Given the description of an element on the screen output the (x, y) to click on. 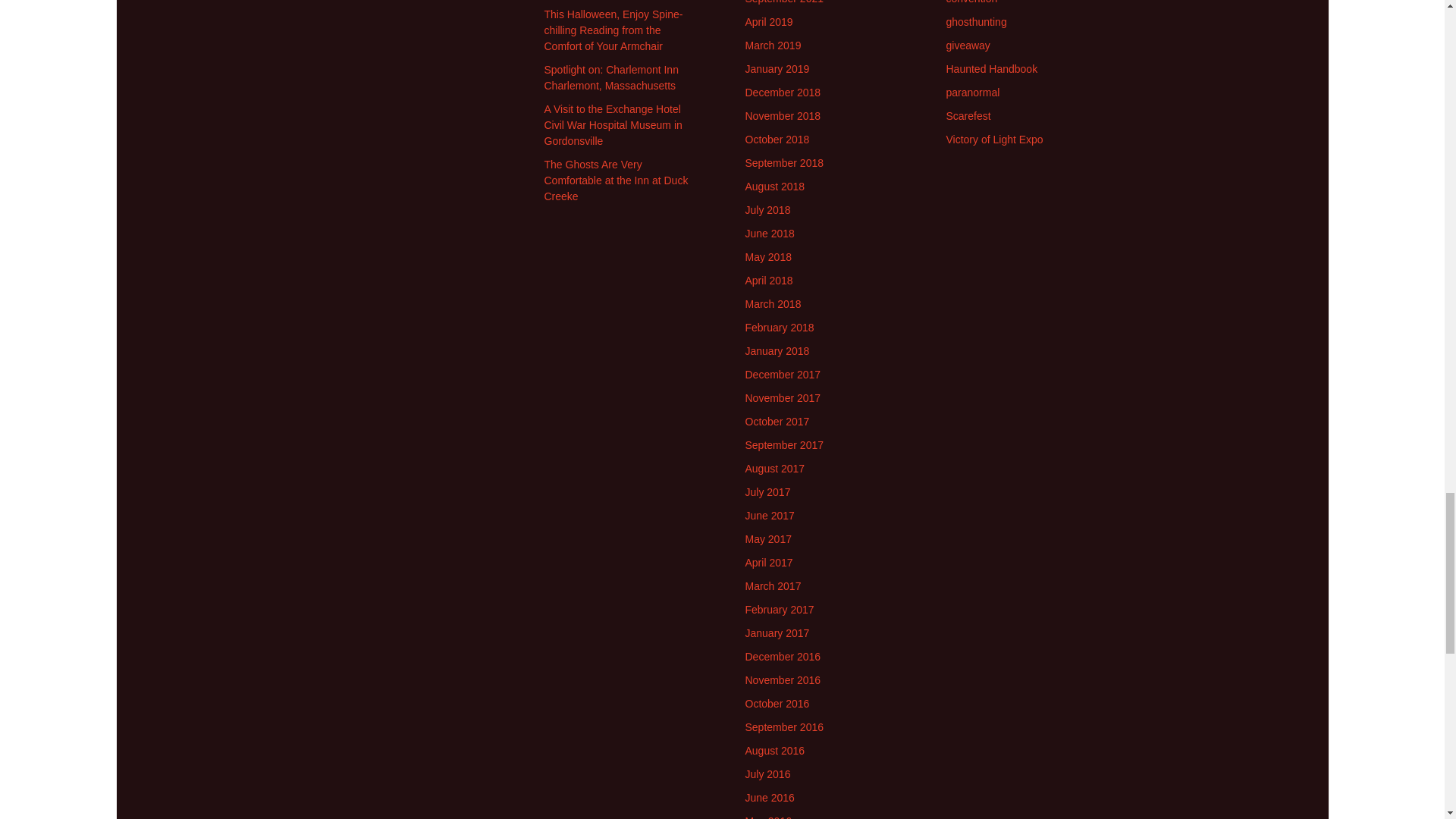
April 2019 (768, 21)
July 2018 (767, 209)
January 2019 (776, 69)
December 2018 (782, 92)
August 2018 (774, 186)
November 2018 (782, 115)
March 2019 (772, 45)
September 2021 (784, 2)
Spotlight on: Charlemont Inn Charlemont, Massachusetts (611, 77)
June 2018 (768, 233)
September 2018 (784, 162)
The Ghosts Are Very Comfortable at the Inn at Duck Creeke (616, 180)
October 2018 (776, 139)
